Given the description of an element on the screen output the (x, y) to click on. 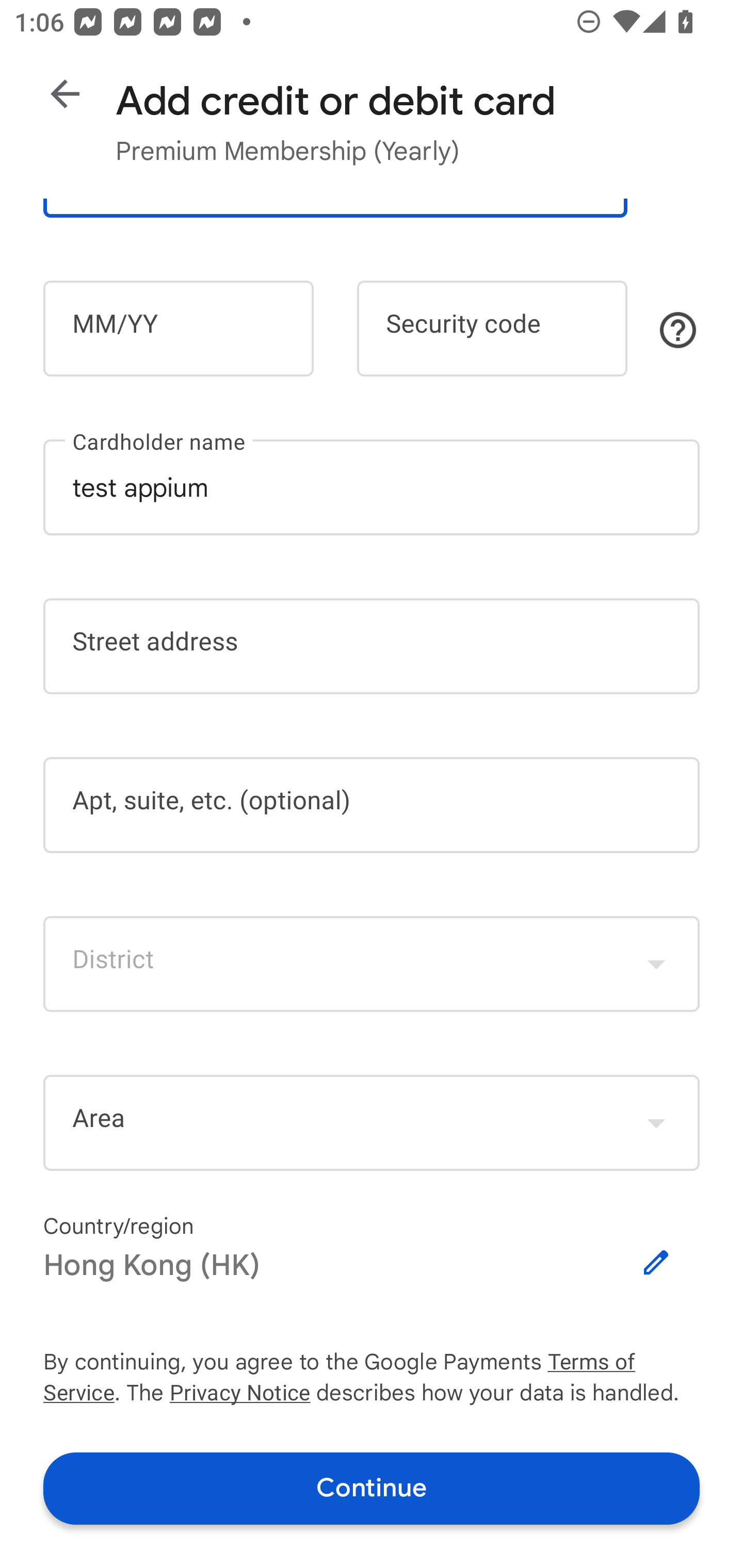
Back (64, 93)
Expiration date, 2 digit month, 2 digit year (178, 328)
Security code (492, 328)
Security code help (677, 329)
test appium (371, 486)
Street address (371, 646)
Apt, suite, etc. (optional) (371, 804)
District (371, 963)
Show dropdown menu (655, 963)
Area (371, 1123)
Show dropdown menu (655, 1122)
country edit button (655, 1262)
Terms of Service (623, 1362)
Privacy Notice (239, 1394)
Continue (371, 1487)
